Given the description of an element on the screen output the (x, y) to click on. 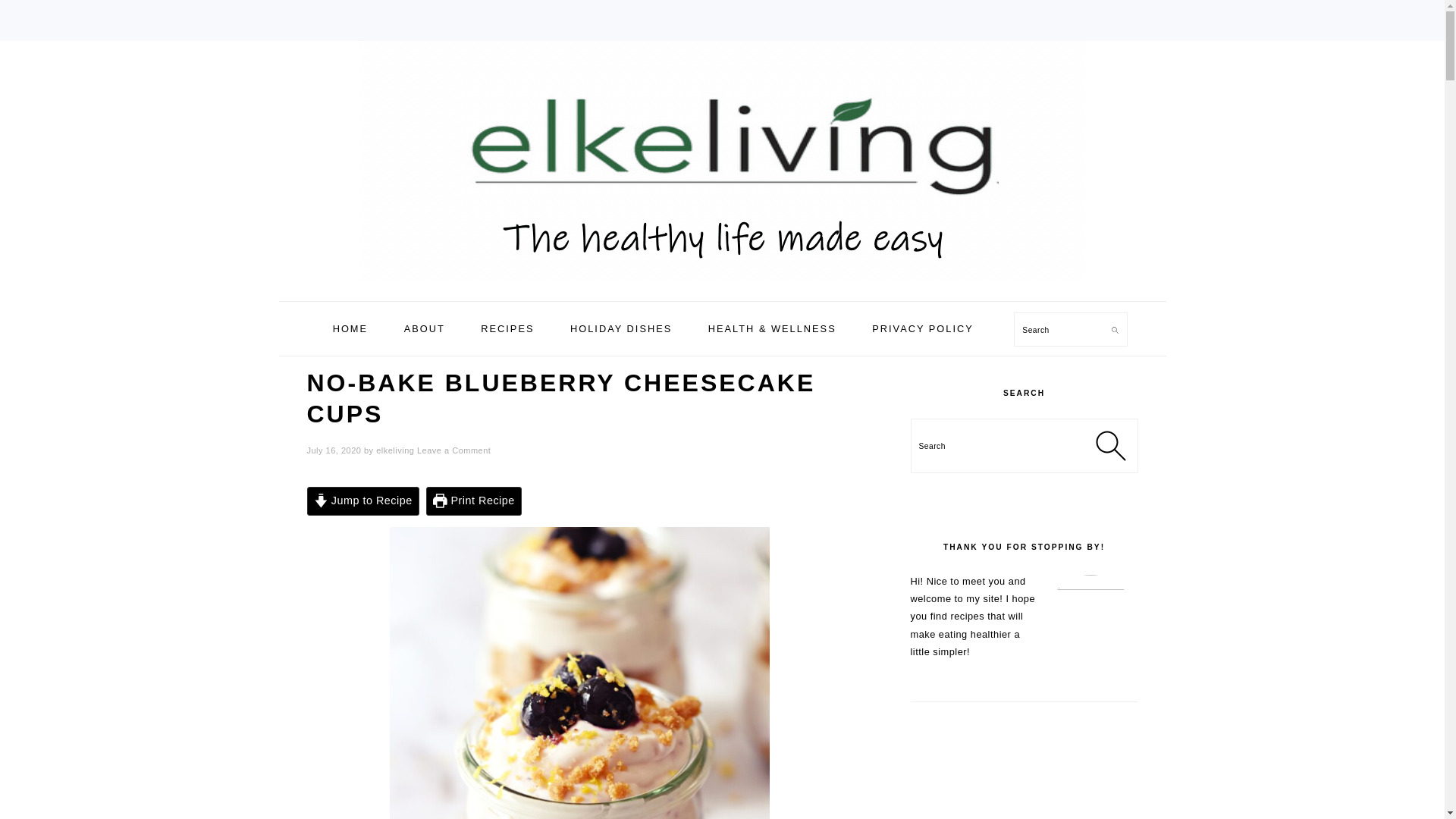
HOLIDAY DISHES (620, 328)
RECIPES (507, 328)
Leave a Comment (453, 450)
PRIVACY POLICY (923, 328)
Print Recipe (473, 500)
Elke Living (721, 283)
